Given the description of an element on the screen output the (x, y) to click on. 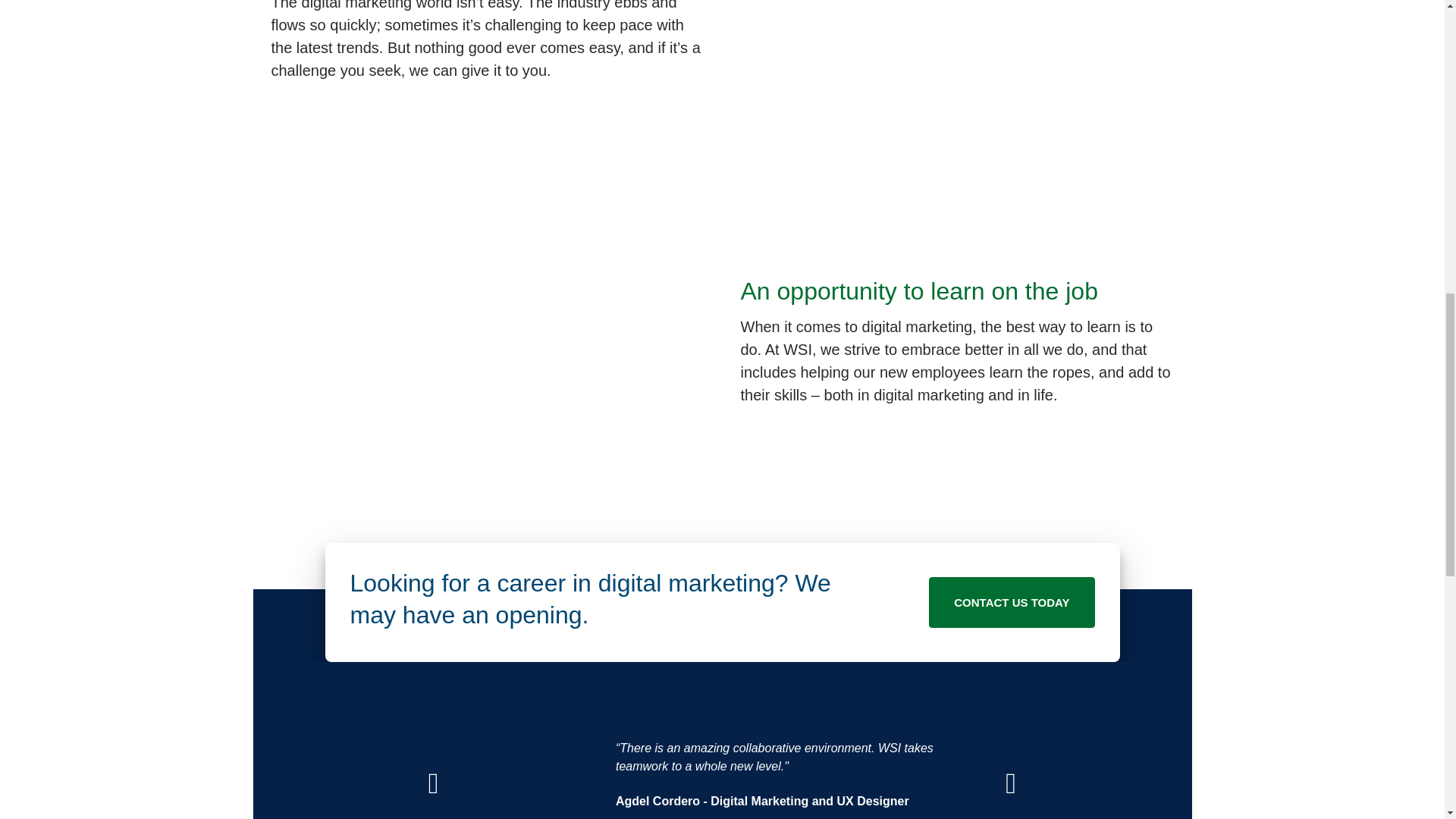
Contact Us (1011, 602)
Group-of-young-business-people-sitting (486, 340)
Woman-connecting-cellphone-and-laptop-computer-1 (956, 83)
CONTACT US TODAY (1011, 602)
